Given the description of an element on the screen output the (x, y) to click on. 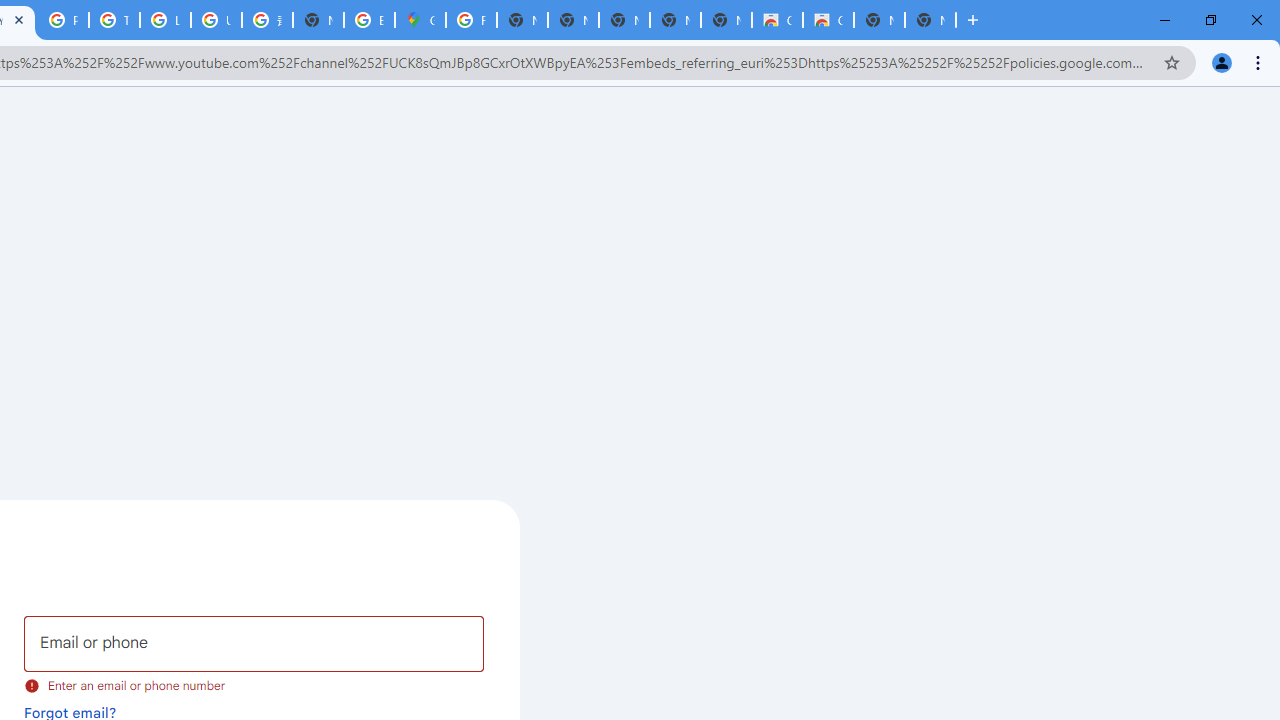
New Tab (930, 20)
Email or phone (253, 643)
